Given the description of an element on the screen output the (x, y) to click on. 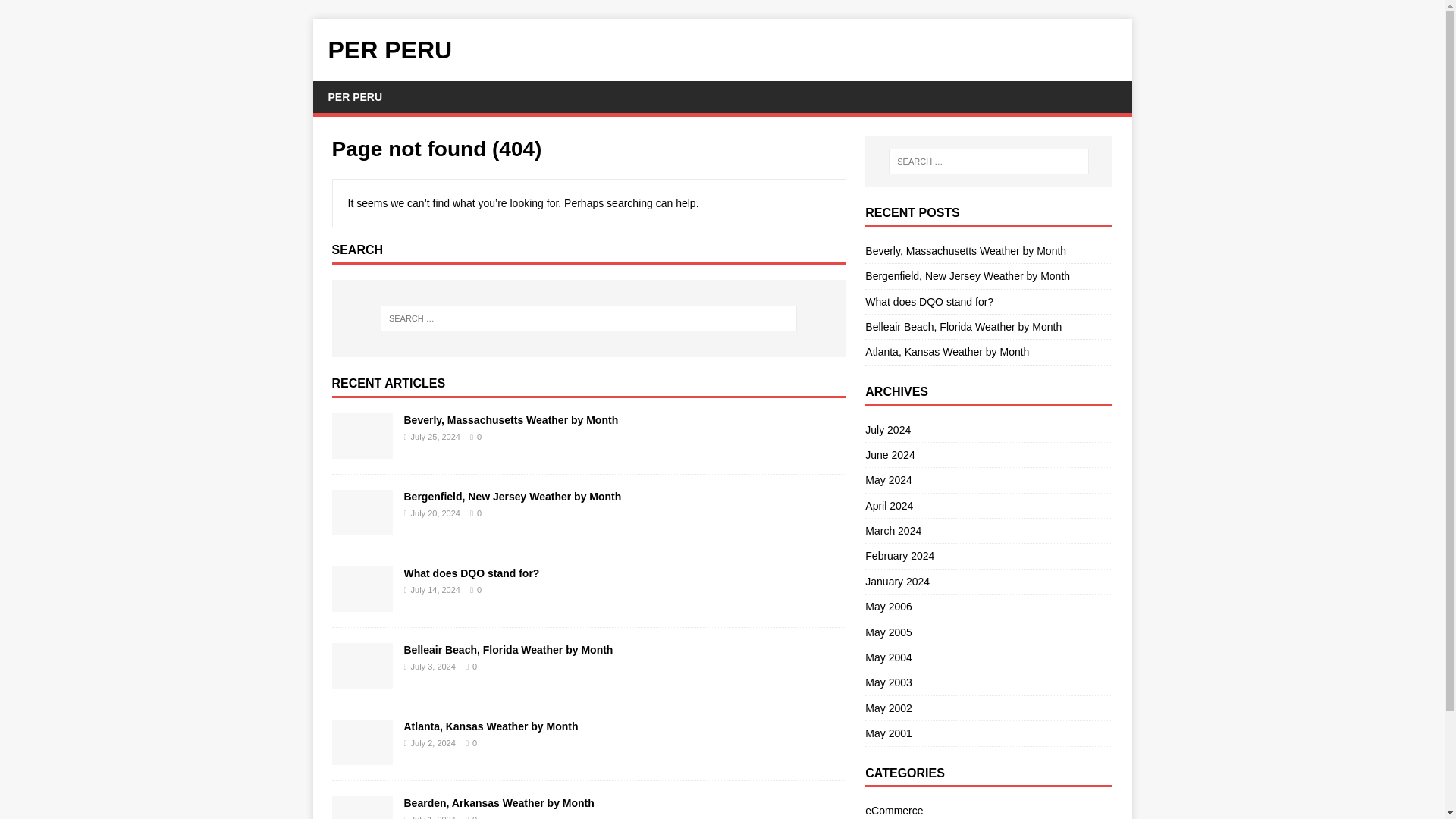
Bergenfield, New Jersey Weather by Month (967, 275)
May 2024 (988, 479)
Bearden, Arkansas Weather by Month (498, 802)
Atlanta, Kansas Weather by Month (946, 351)
May 2006 (988, 606)
Beverly, Massachusetts Weather by Month (510, 419)
Belleair Beach, Florida Weather by Month (507, 649)
Beverly, Massachusetts Weather by Month (362, 449)
Bergenfield, New Jersey Weather by Month (362, 526)
July 2024 (988, 431)
PER PERU (721, 49)
February 2024 (988, 555)
Beverly, Massachusetts Weather by Month (964, 250)
Belleair Beach, Florida Weather by Month (962, 326)
What does DQO stand for? (928, 301)
